Given the description of an element on the screen output the (x, y) to click on. 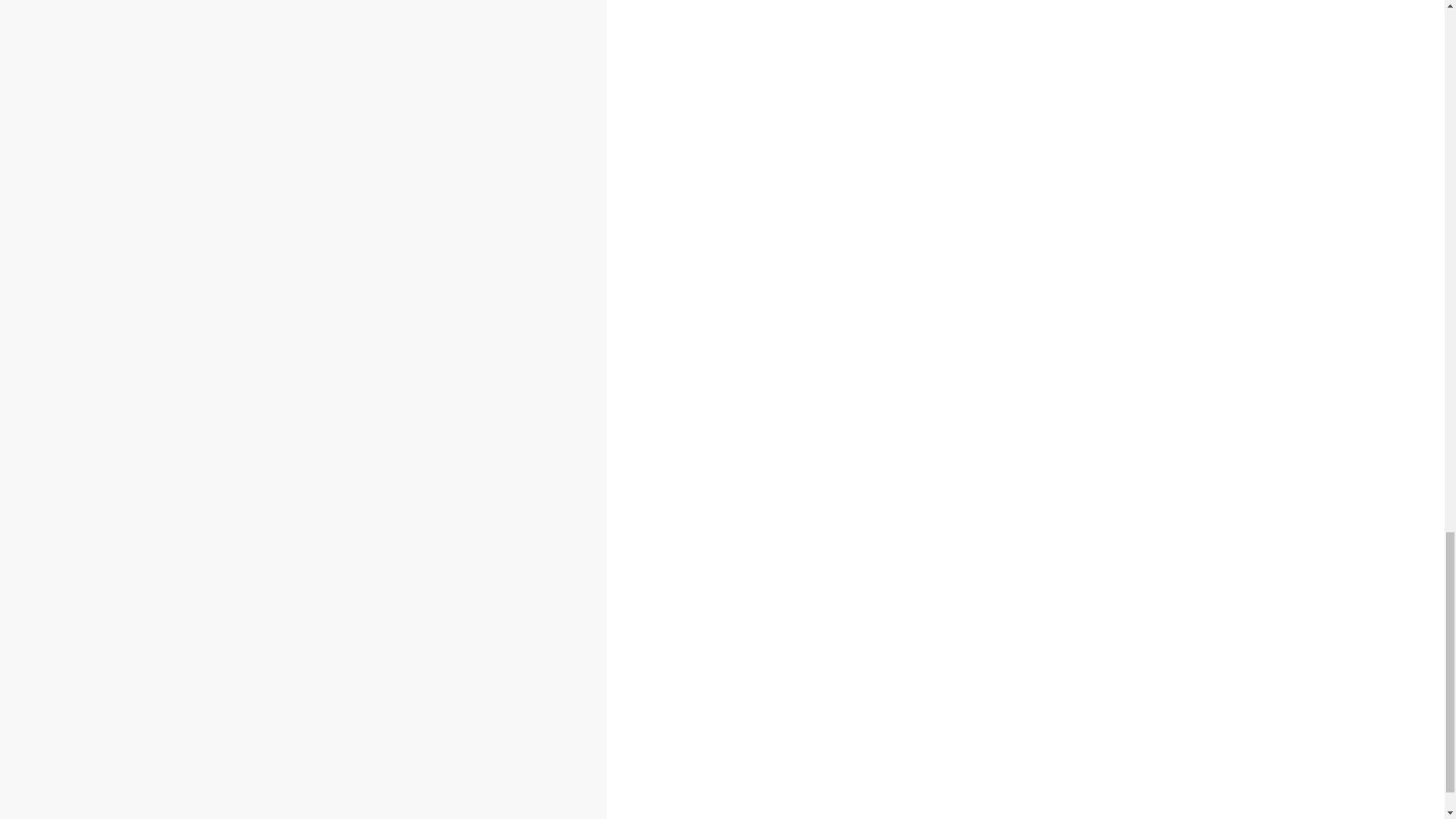
September 2023 (288, 324)
February 2024 (281, 239)
January 2023 (279, 459)
March 2023 (275, 426)
April 2024 (270, 206)
January 2024 (279, 256)
March 2024 (275, 222)
December 2023 (286, 273)
November 2023 (286, 290)
July 2024 (269, 154)
May 2023 (270, 392)
April 2023 (270, 409)
October 2023 (279, 307)
July 2023 (269, 358)
